Given the description of an element on the screen output the (x, y) to click on. 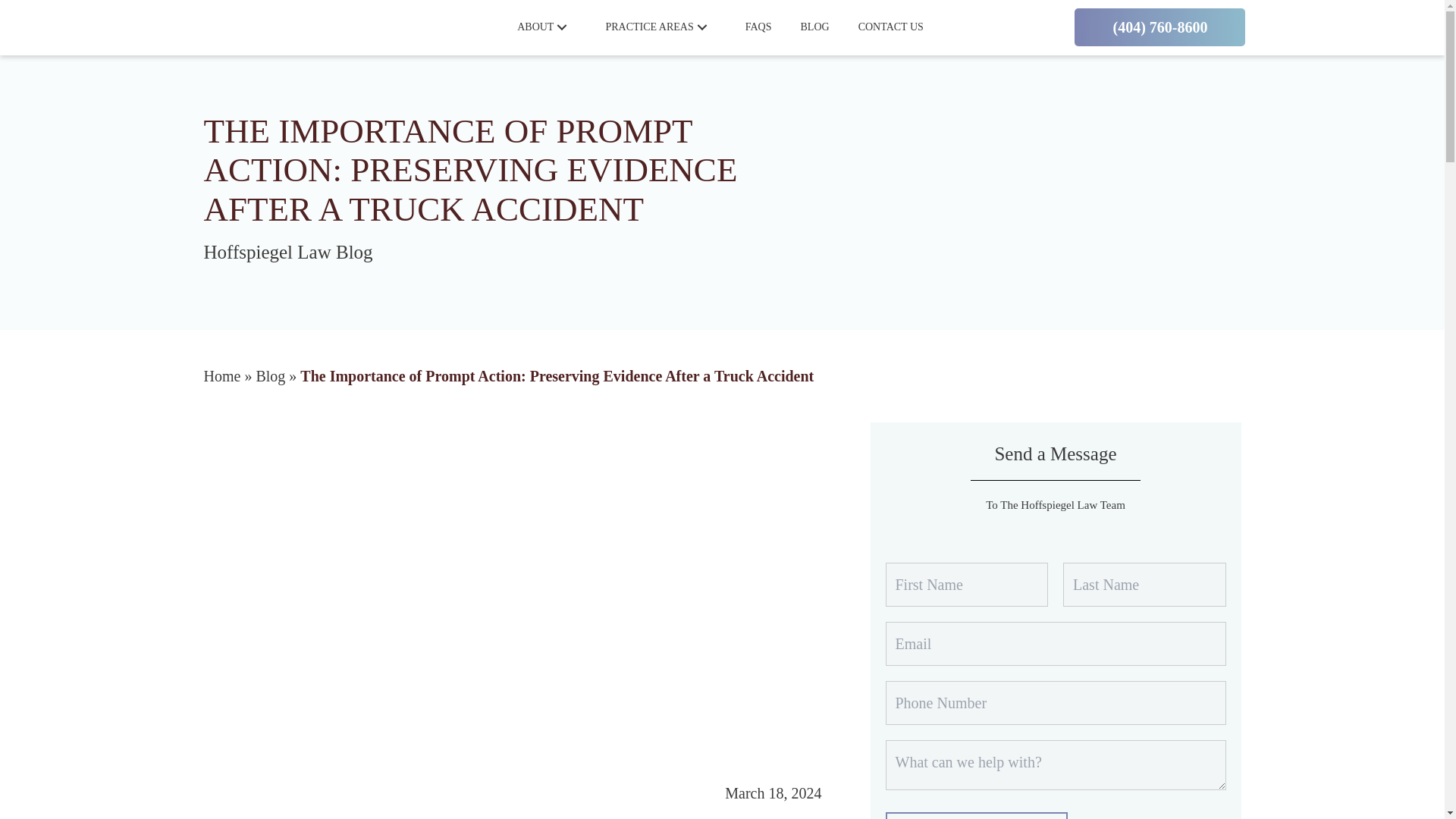
PRACTICE AREAS (648, 26)
BLOG (815, 26)
FAQS (759, 26)
Send Message (976, 815)
CONTACT US (890, 26)
ABOUT (535, 26)
